Given the description of an element on the screen output the (x, y) to click on. 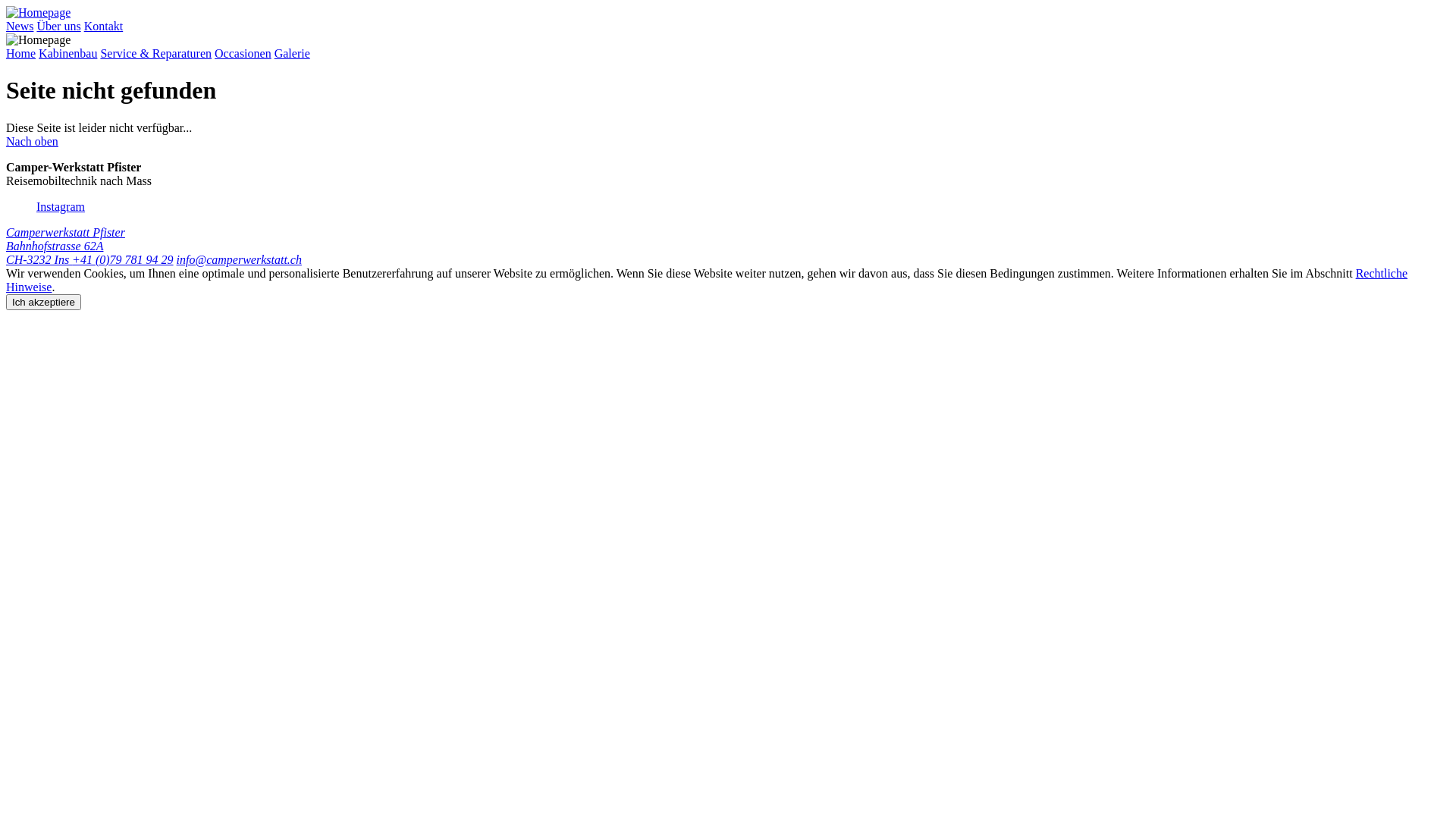
Occasionen Element type: text (242, 53)
+41 (0)79 781 94 29 Element type: text (122, 259)
Galerie Element type: text (292, 53)
Ich akzeptiere Element type: text (43, 302)
Home Element type: text (20, 53)
Instagram Element type: text (60, 206)
Camperwerkstatt Pfister
Bahnhofstrasse 62A
CH-3232 Ins Element type: text (65, 245)
Service & Reparaturen Element type: text (155, 53)
Homepage Element type: hover (38, 12)
Kontakt Element type: text (103, 25)
Kabinenbau Element type: text (67, 53)
Rechtliche Hinweise Element type: text (706, 279)
News Element type: text (19, 25)
info@camperwerkstatt.ch Element type: text (238, 259)
Nach oben Element type: text (32, 140)
